Given the description of an element on the screen output the (x, y) to click on. 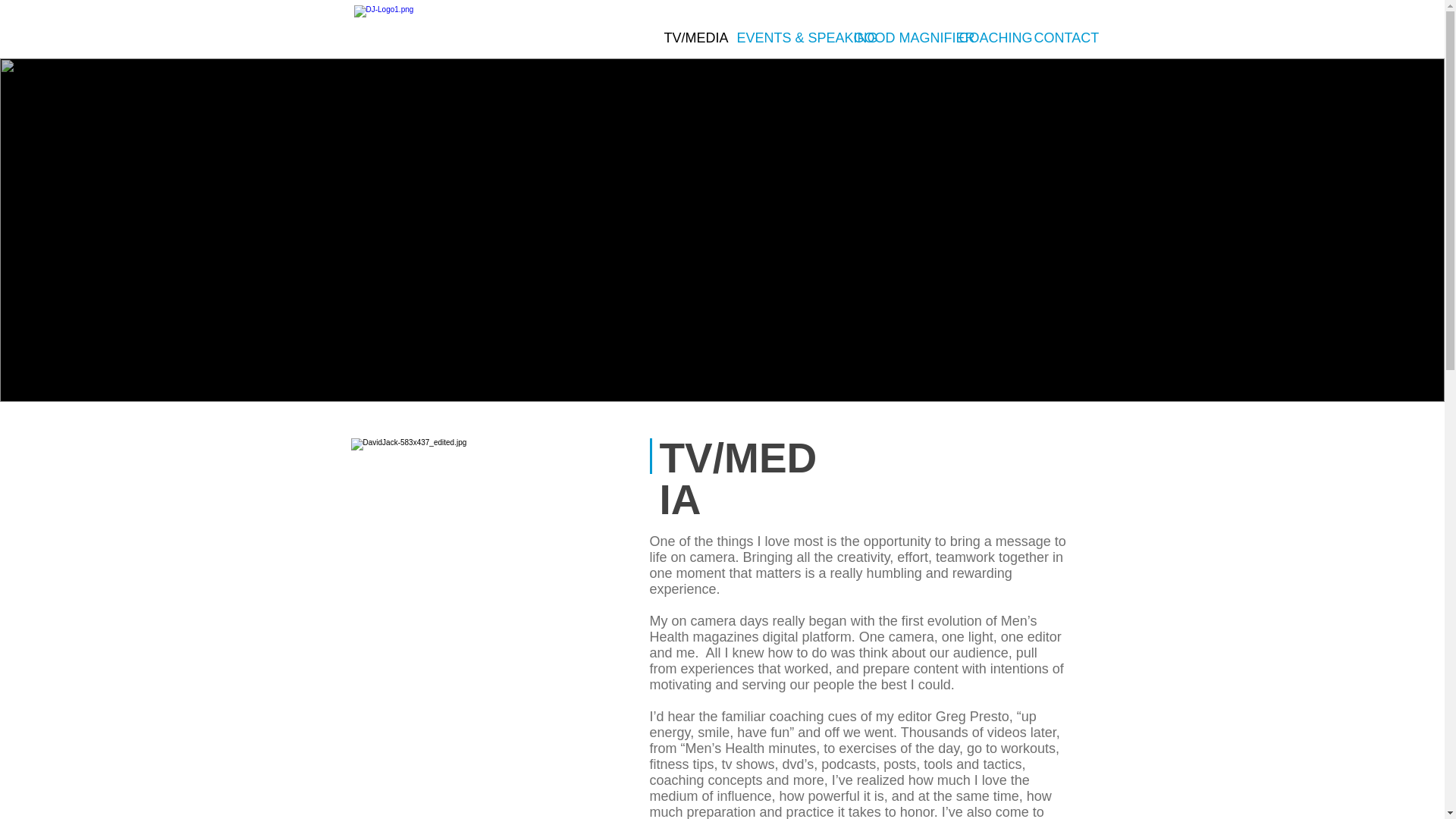
GOOD MAGNIFIER (894, 37)
CONTACT (1057, 37)
COACHING (985, 37)
